Given the description of an element on the screen output the (x, y) to click on. 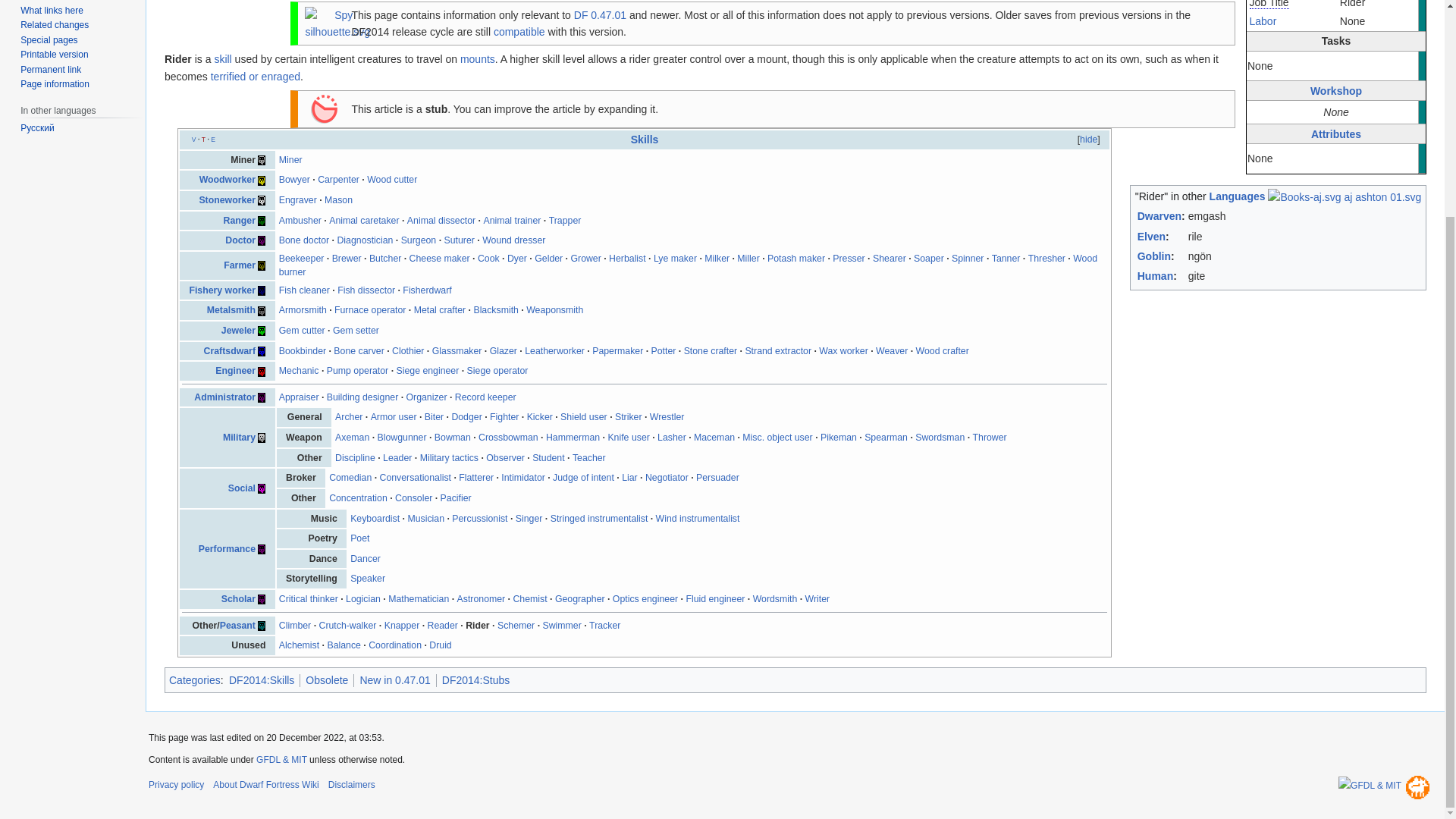
terrified or enraged (255, 76)
compatible (518, 31)
hide (1088, 139)
Languages (1237, 196)
Attributes (1336, 133)
Labor (1262, 21)
Human (1155, 275)
mounts (477, 59)
skill (222, 59)
DF 0.47.01 (599, 15)
DF2014:Workshop (1335, 91)
Workshop (1335, 91)
DF2014:Attributes (1336, 133)
Goblin (1153, 256)
